Given the description of an element on the screen output the (x, y) to click on. 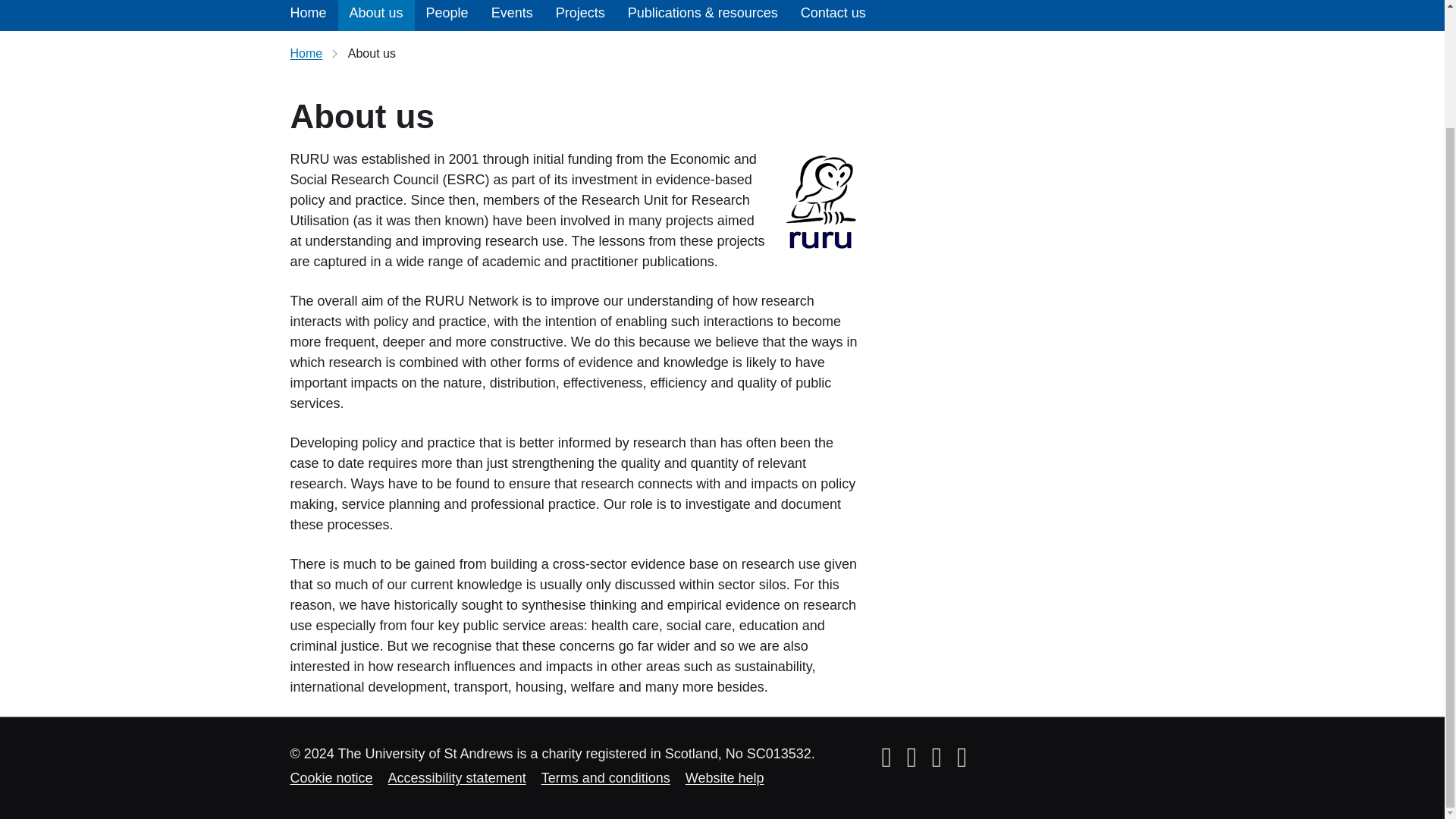
Cookie notice (330, 777)
Terms and conditions (605, 777)
Projects (579, 15)
Events (512, 15)
Home (305, 52)
Contact us (833, 15)
Accessibility statement (456, 777)
Website help (724, 777)
People (447, 15)
Home (308, 15)
